Given the description of an element on the screen output the (x, y) to click on. 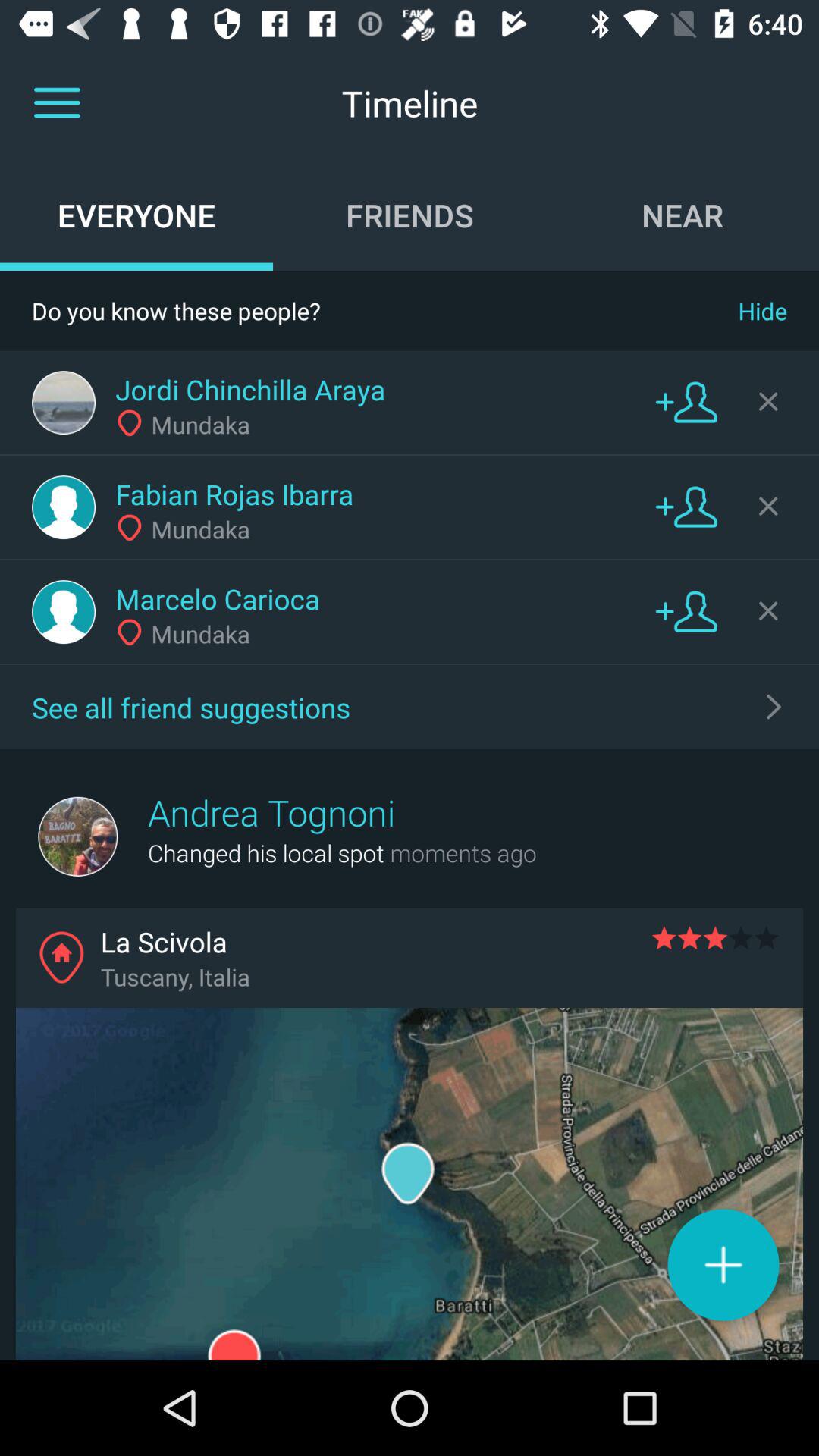
add person as friend (686, 401)
